Given the description of an element on the screen output the (x, y) to click on. 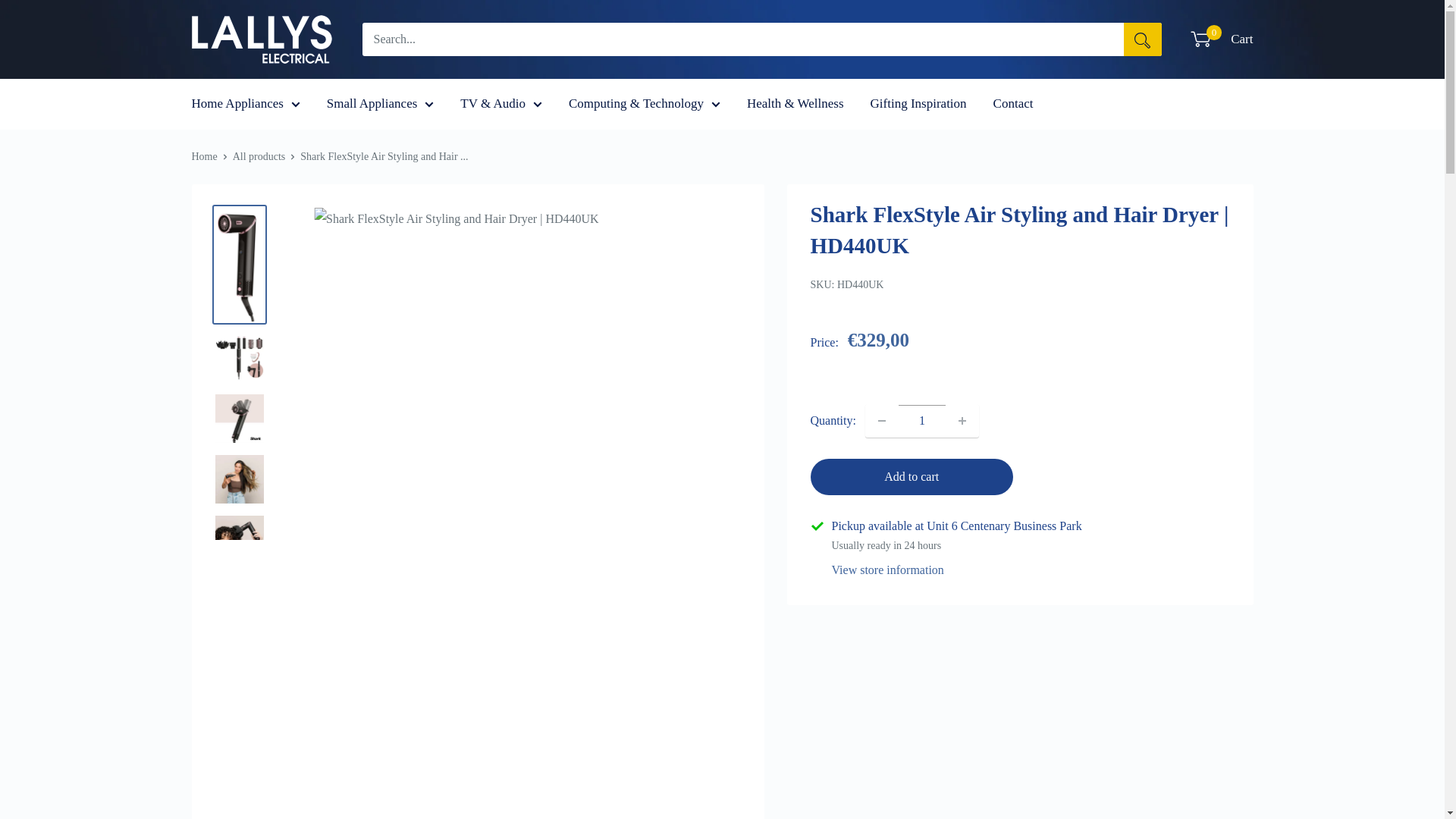
1 (922, 420)
Increase quantity by 1 (962, 420)
Decrease quantity by 1 (882, 420)
